Given the description of an element on the screen output the (x, y) to click on. 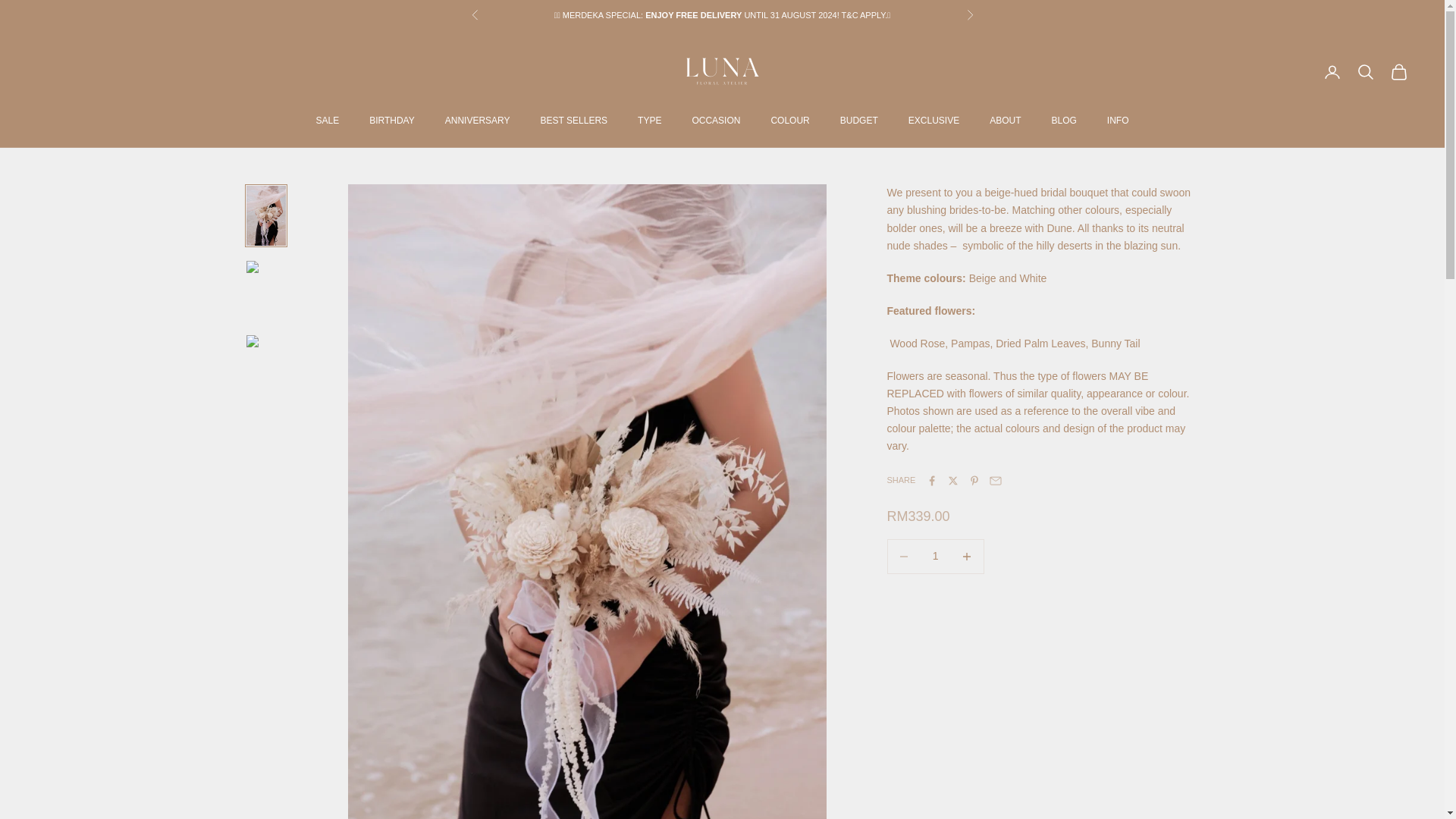
BIRTHDAY (391, 120)
SALE (327, 120)
1 (935, 555)
ANNIVERSARY (478, 120)
BEST SELLERS (574, 120)
Luna Floral Atelier (722, 71)
